Given the description of an element on the screen output the (x, y) to click on. 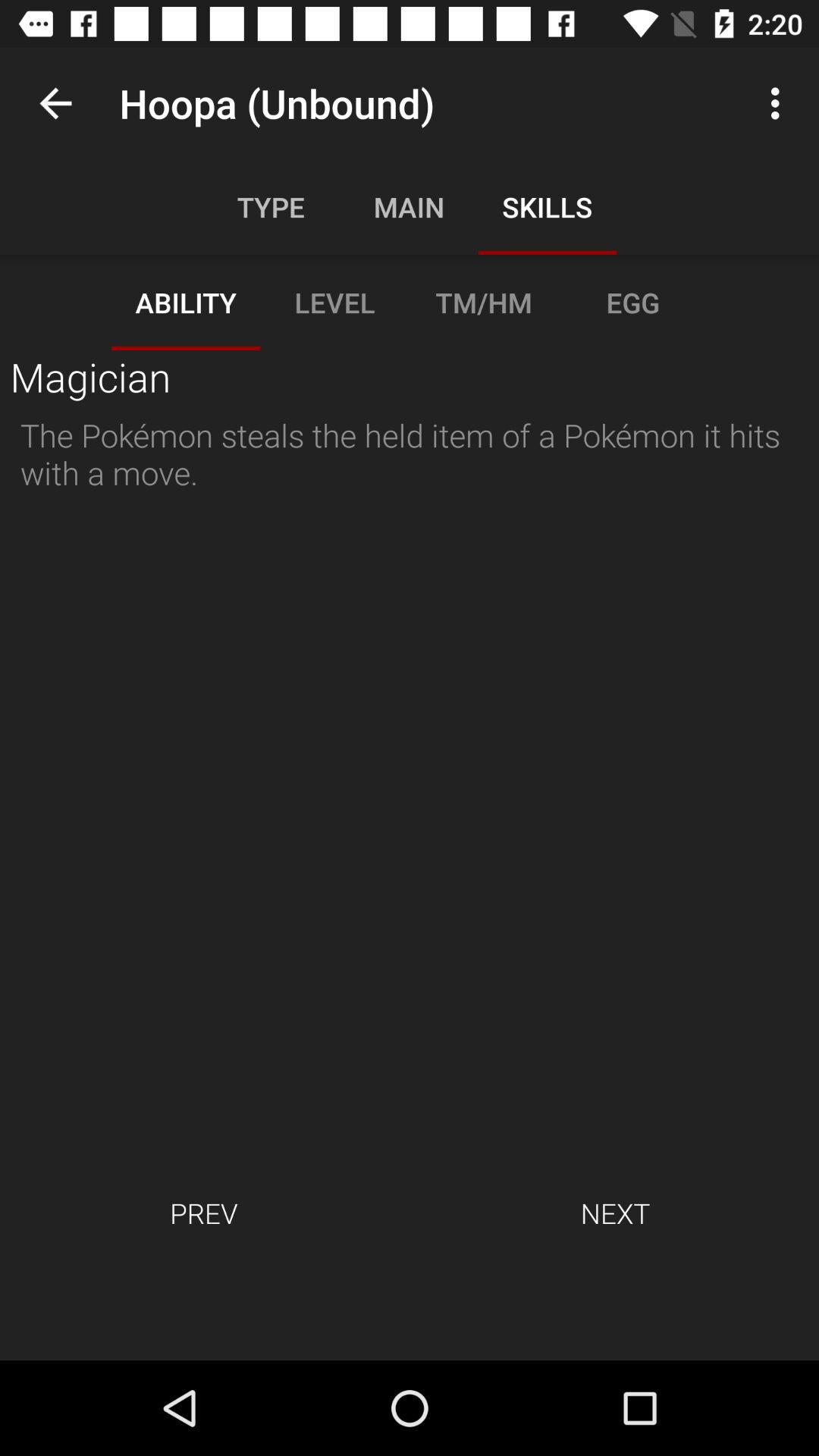
launch app next to the hoopa (unbound) app (55, 103)
